Given the description of an element on the screen output the (x, y) to click on. 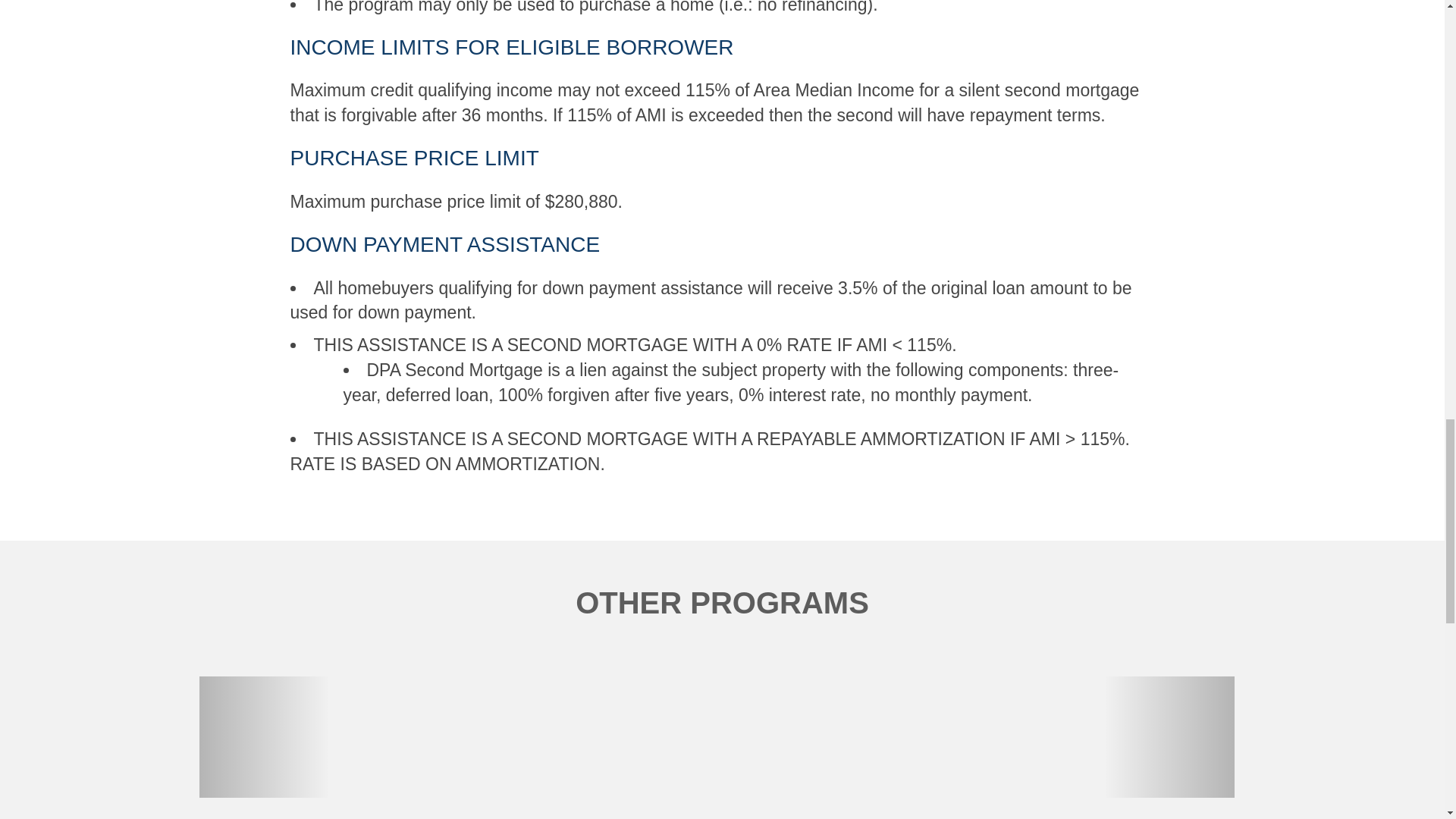
Previous (263, 736)
Home Plus Program (506, 736)
Pathway to Purchase (794, 736)
Arizona HFA Preferred (650, 736)
Home in 5 Program (362, 736)
Next (1168, 736)
Open Doors (1082, 736)
